Given the description of an element on the screen output the (x, y) to click on. 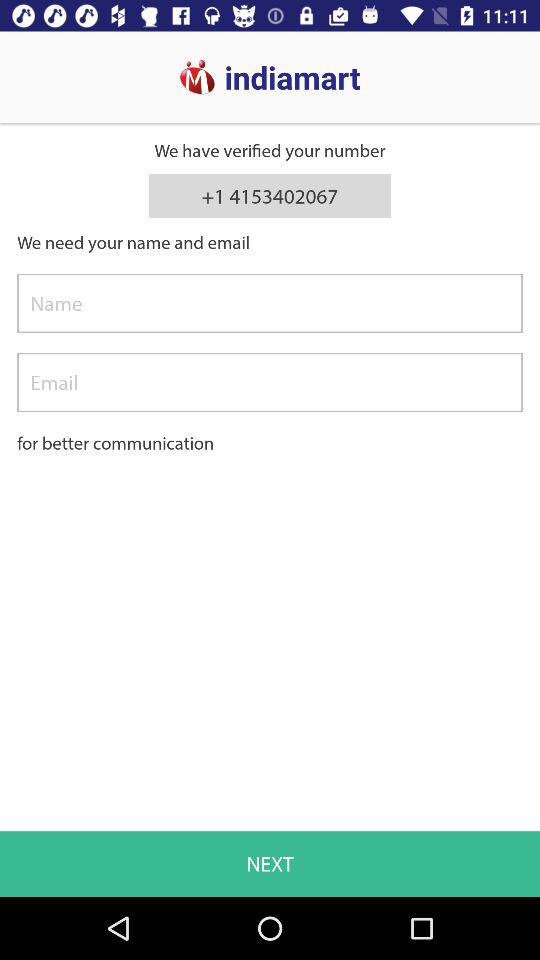
space for writing a name (269, 303)
